Given the description of an element on the screen output the (x, y) to click on. 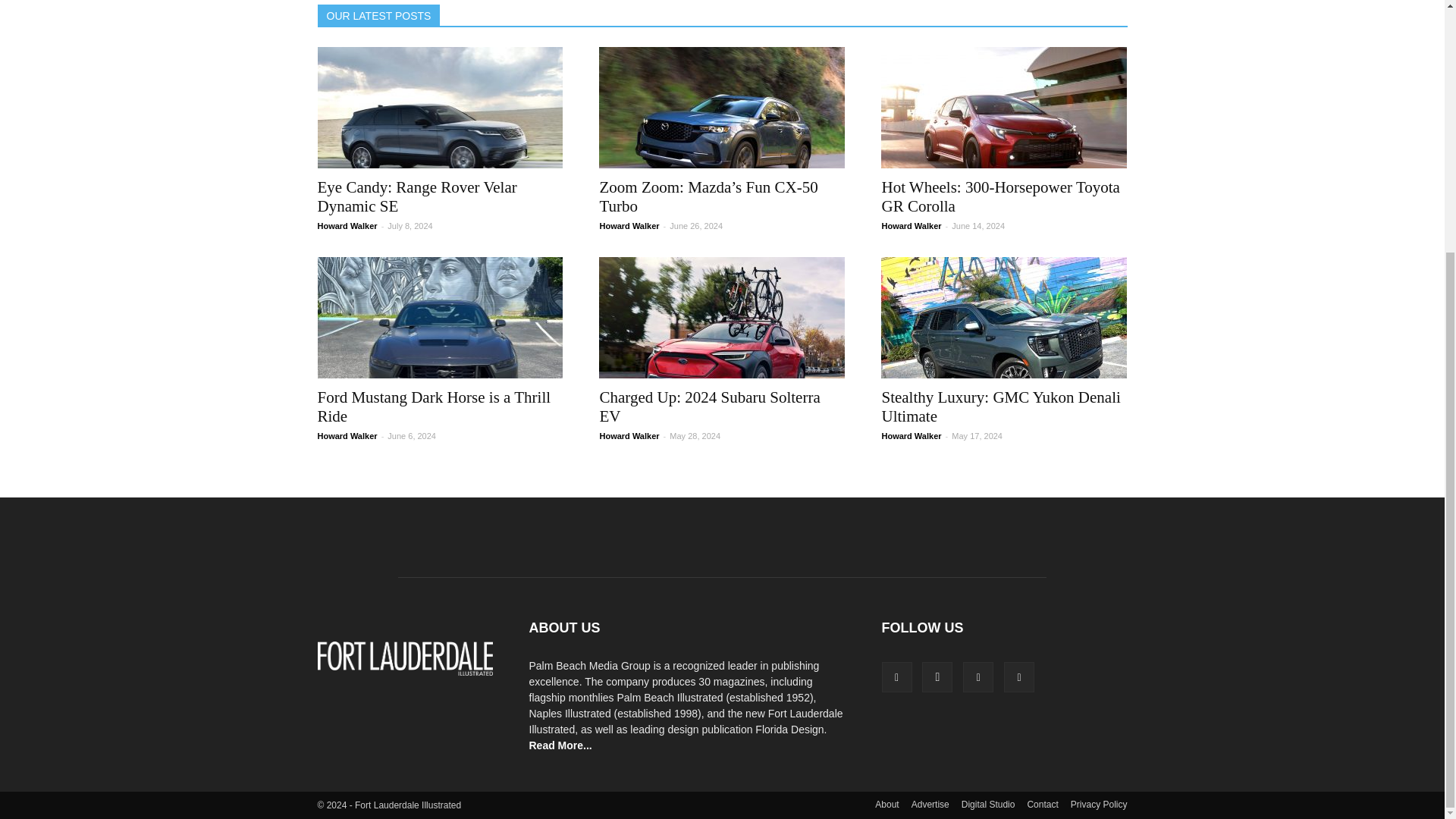
Hot Wheels: 300-Horsepower Toyota GR Corolla (1003, 107)
Posts by Howard Walker (628, 225)
Eye Candy: Range Rover Velar Dynamic SE (439, 107)
Eye Candy: Range Rover Velar Dynamic SE (416, 196)
Posts by Howard Walker (347, 225)
